Given the description of an element on the screen output the (x, y) to click on. 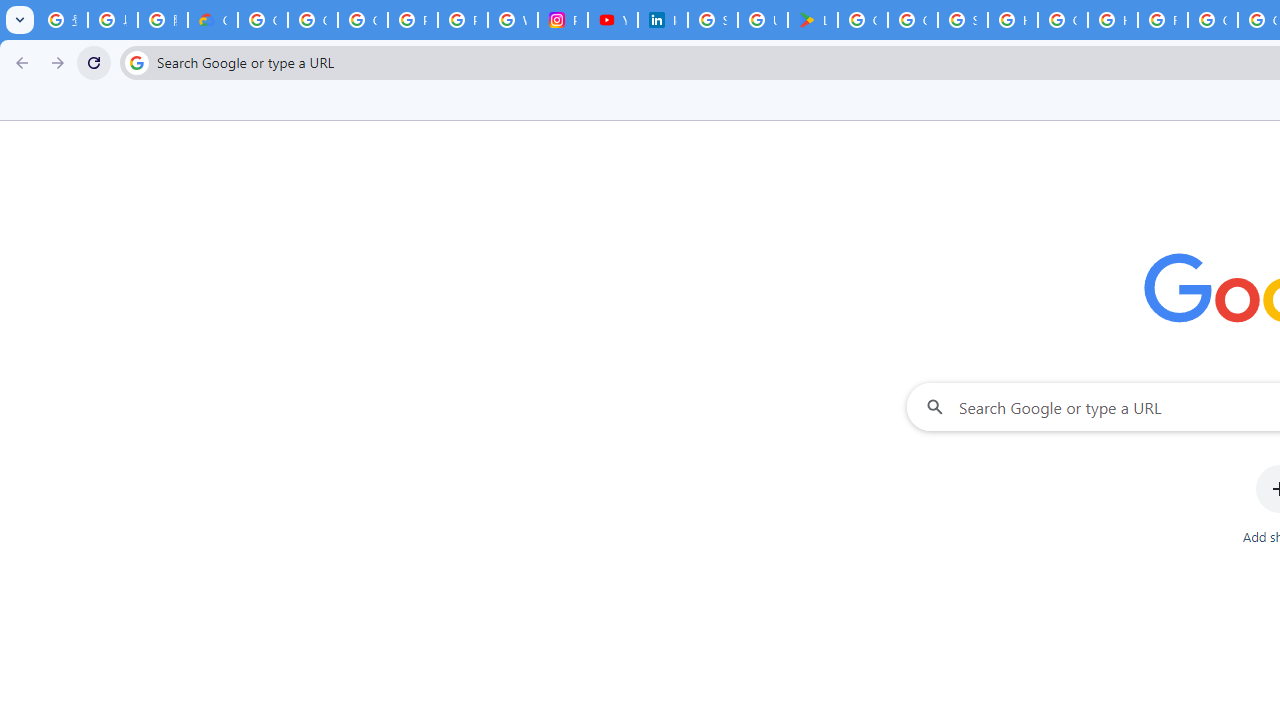
Privacy Help Center - Policies Help (462, 20)
Identity verification via Persona | LinkedIn Help (662, 20)
How do I create a new Google Account? - Google Account Help (1112, 20)
Sign in - Google Accounts (963, 20)
YouTube Culture & Trends - On The Rise: Handcam Videos (612, 20)
